Given the description of an element on the screen output the (x, y) to click on. 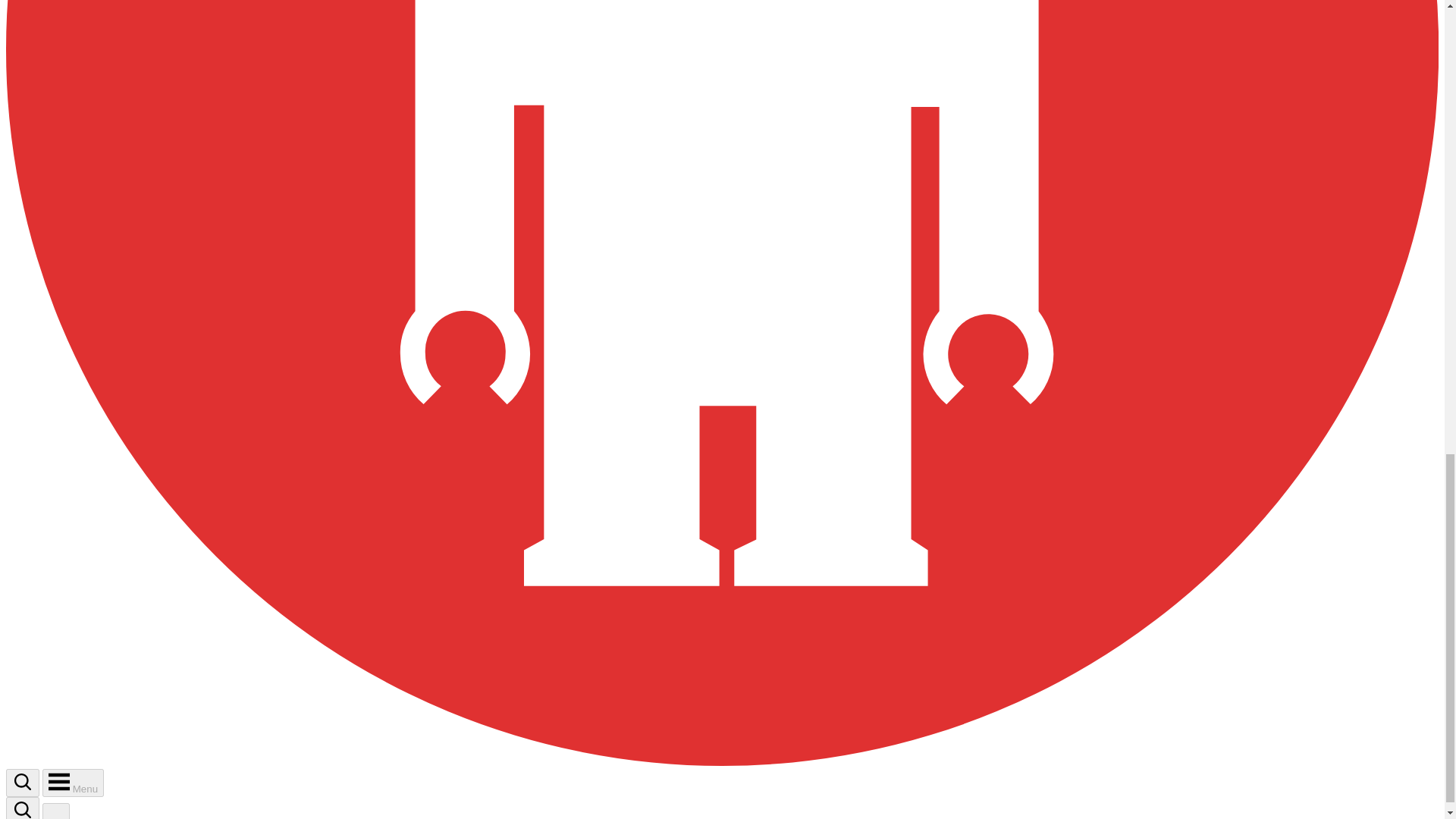
Search thoughtbot.com (22, 782)
Menu (72, 782)
Search thoughtbot.com (22, 781)
